Given the description of an element on the screen output the (x, y) to click on. 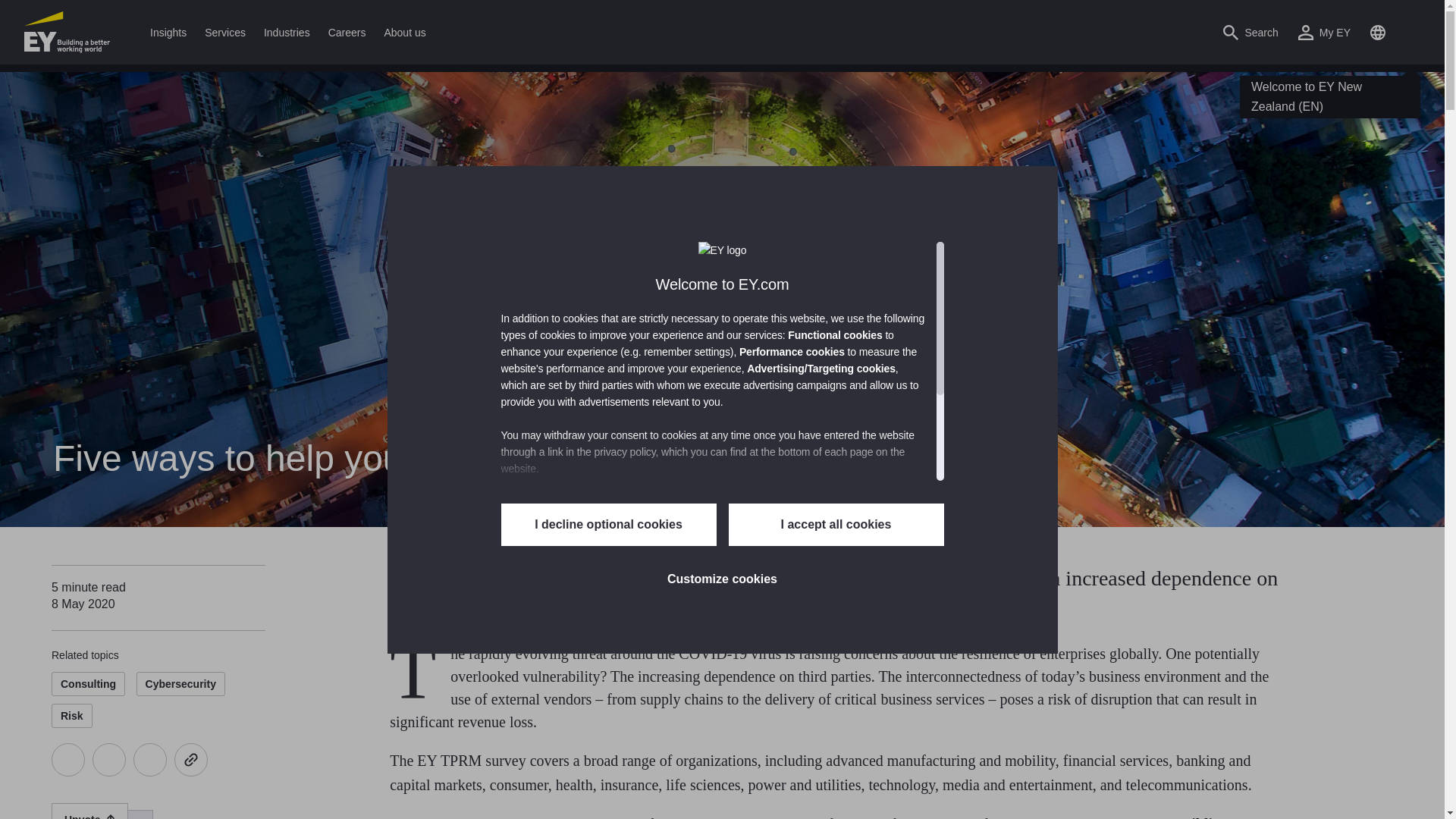
EY Homepage (67, 32)
Open search (1250, 32)
My EY (1324, 32)
Social Media Share (129, 759)
